Given the description of an element on the screen output the (x, y) to click on. 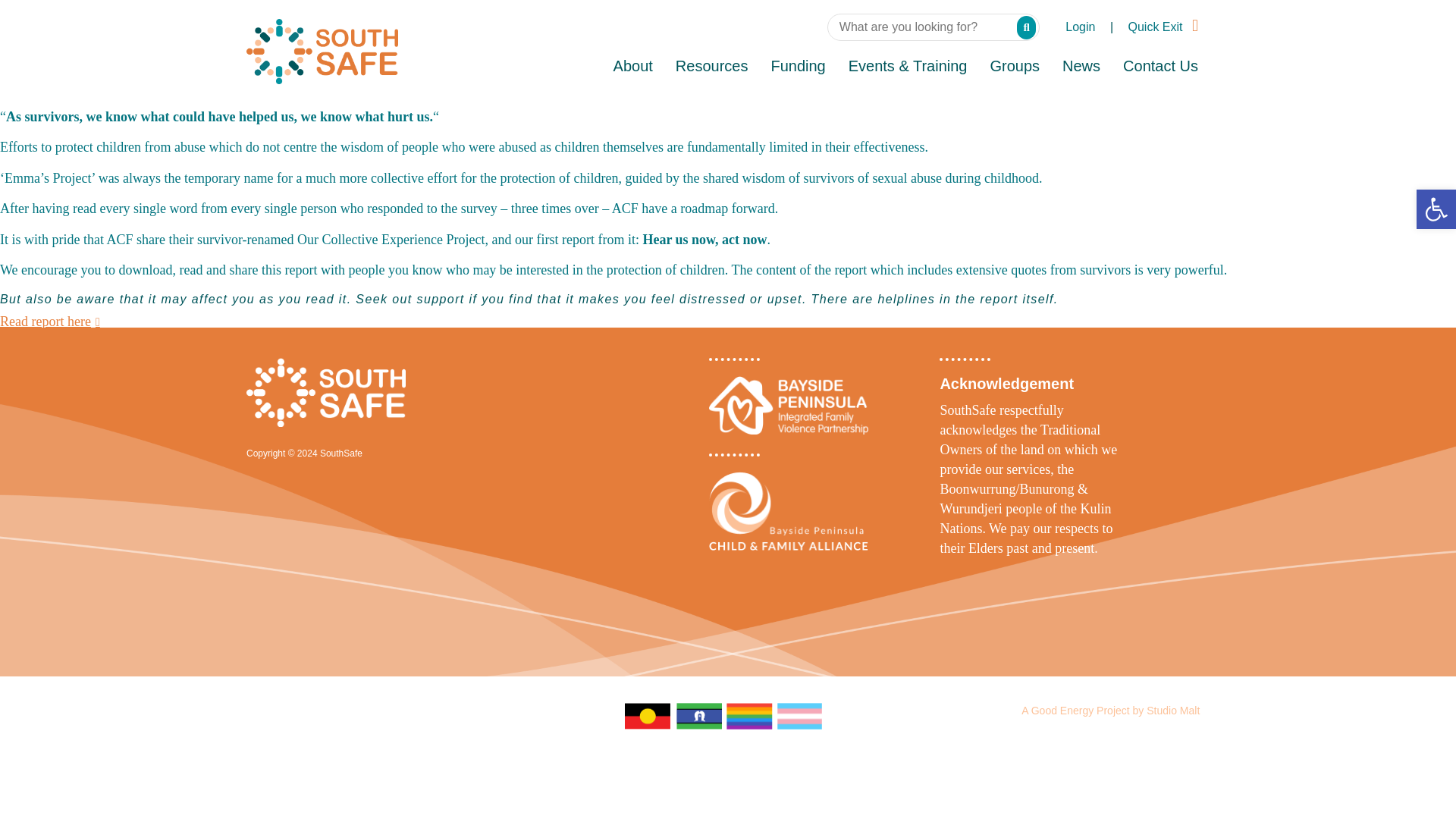
Funding (796, 66)
Login (1079, 26)
Resources (711, 66)
Accessibility Tools (1435, 209)
About (632, 66)
News (1081, 66)
Contact Us (1160, 66)
Groups (1014, 66)
Quick Exit (1162, 26)
